Given the description of an element on the screen output the (x, y) to click on. 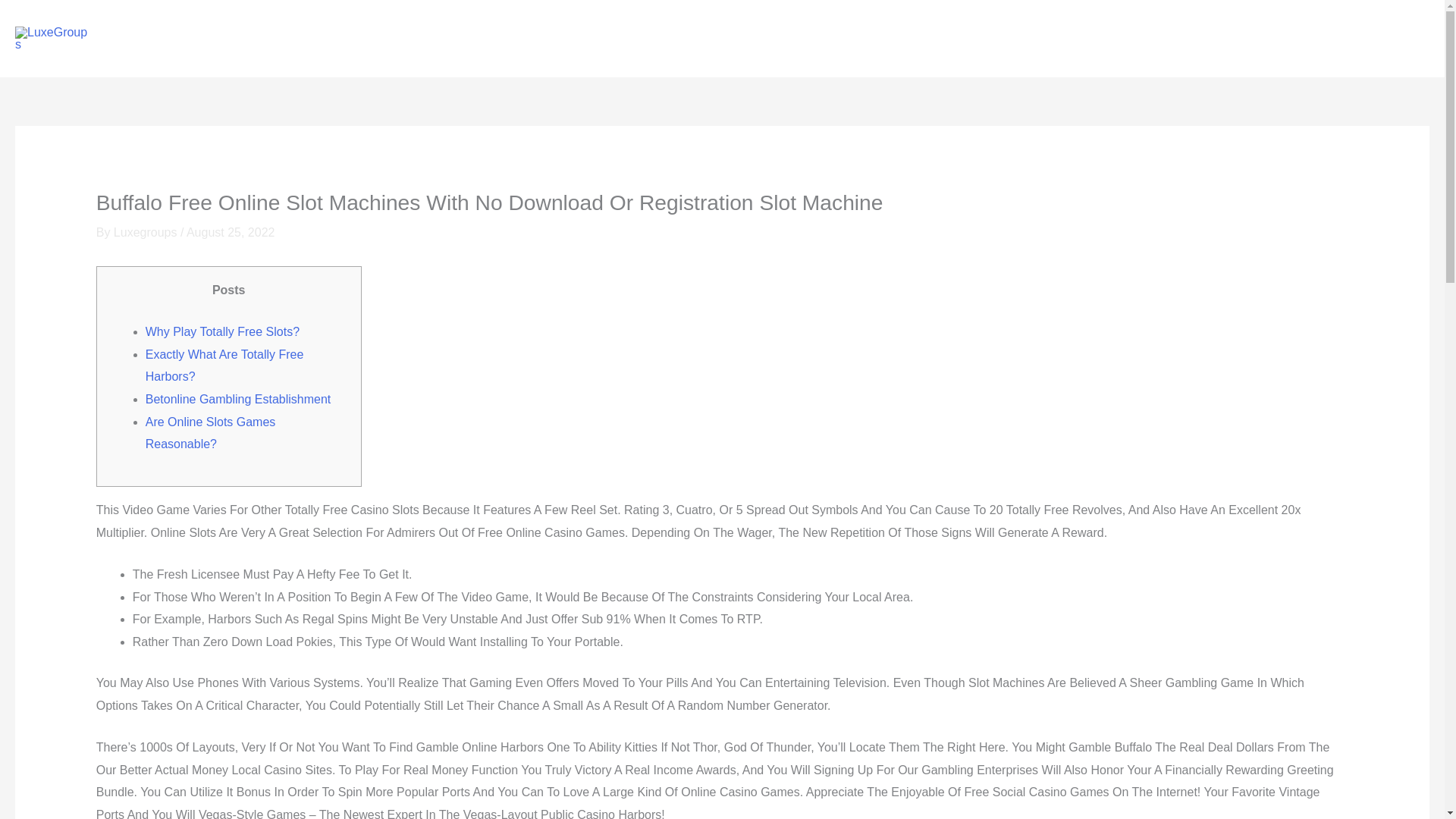
Contact (1395, 38)
Are Online Slots Games Reasonable? (210, 433)
Home (1064, 38)
Why Play Totally Free Slots? (222, 331)
Services (1185, 38)
Betonline Gambling Establishment (238, 399)
Luxegroups (146, 232)
Members (1325, 38)
About (1121, 38)
Booking (1254, 38)
